Given the description of an element on the screen output the (x, y) to click on. 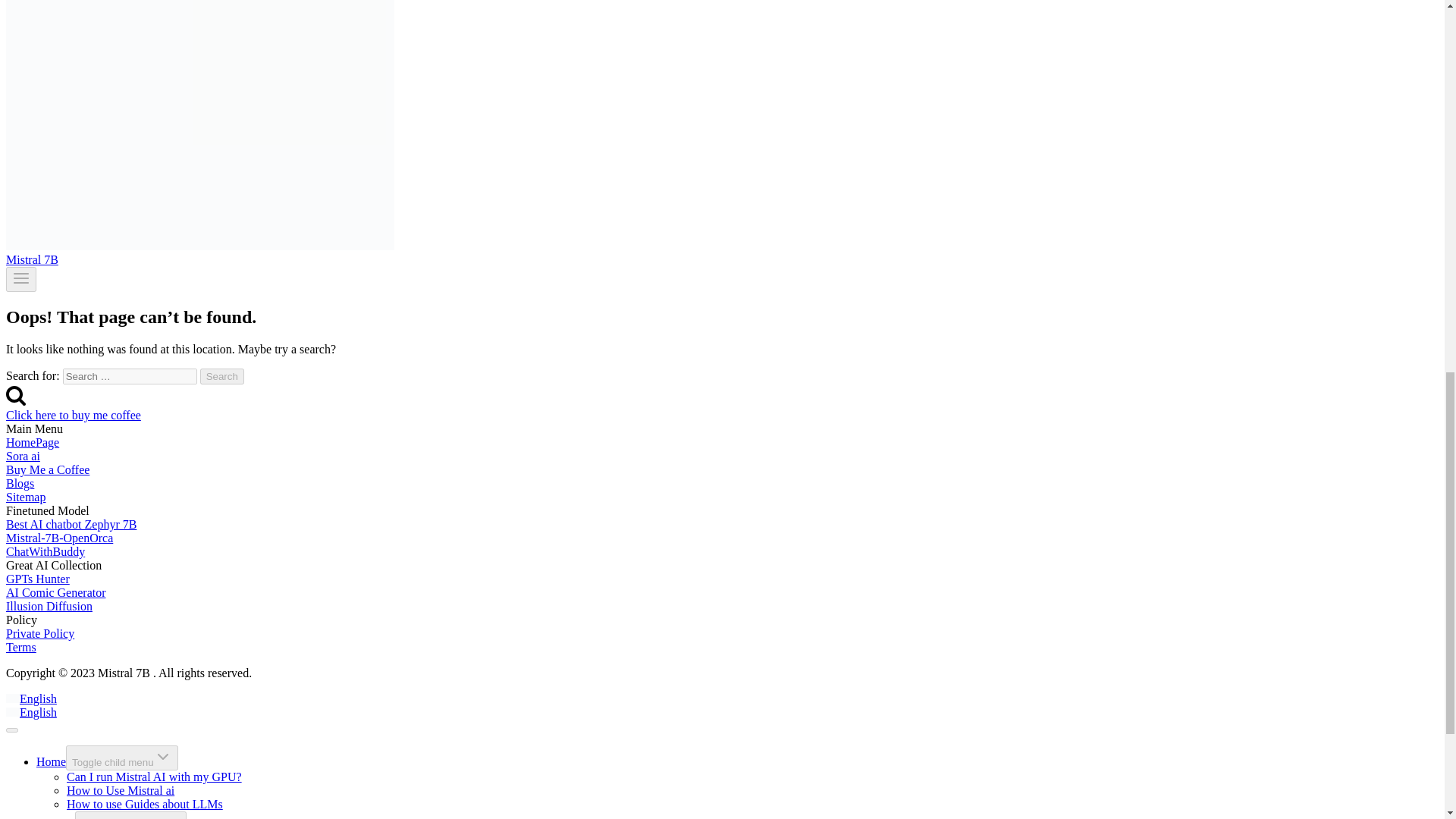
Blogs (19, 482)
Search (222, 376)
Sitemap (25, 496)
ChatWithBuddy (44, 551)
Expand (162, 756)
Home (50, 761)
Buy Me a Coffee (46, 469)
Mistral-7B-OpenOrca (59, 537)
English (12, 697)
Toggle Menu (20, 278)
Private Policy (39, 633)
Toggle child menuExpand (121, 757)
Search (222, 376)
Best AI chatbot Zephyr 7B (70, 523)
Click here to buy me coffee (73, 414)
